Given the description of an element on the screen output the (x, y) to click on. 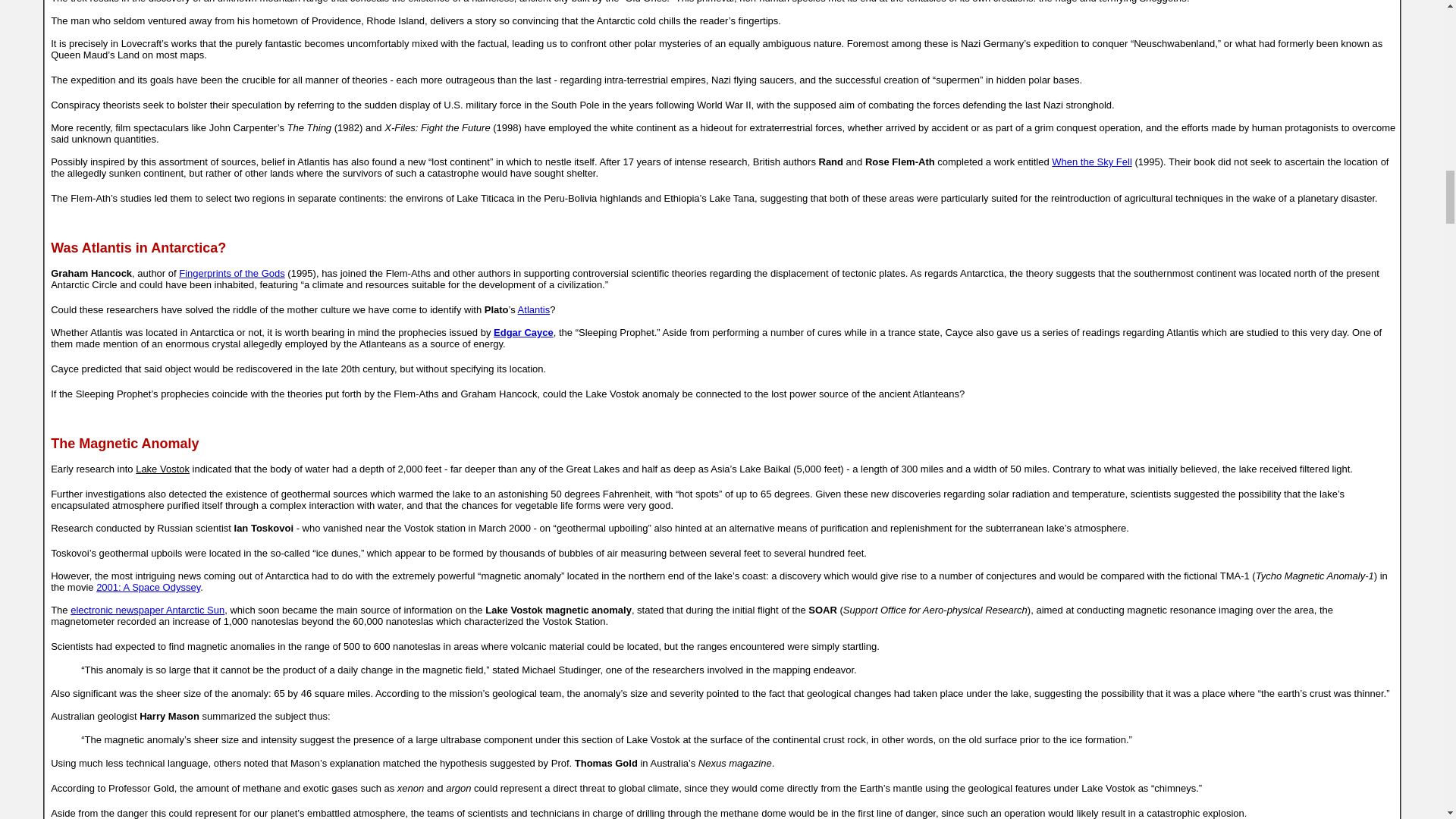
electronic newspaper Antarctic Sun (146, 609)
Atlantis (534, 309)
Edgar Cayce (523, 332)
2001: A Space Odyssey (148, 586)
Fingerprints of the Gods (231, 273)
When the Sky Fell (1091, 161)
